Given the description of an element on the screen output the (x, y) to click on. 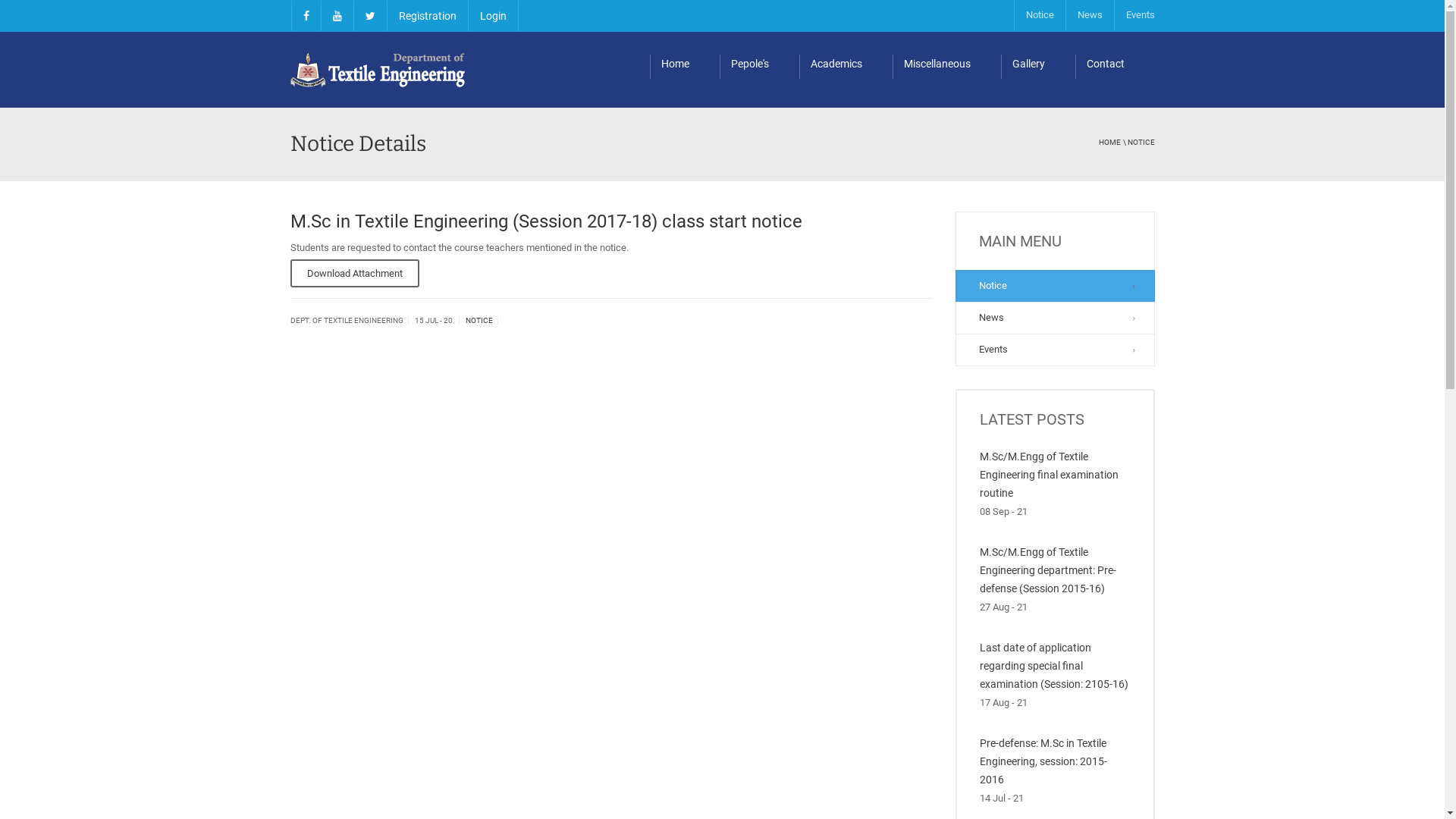
Notice Element type: text (1038, 15)
Academics Element type: text (845, 51)
Events Element type: text (1139, 15)
News Element type: text (1054, 317)
HOME Element type: text (1109, 142)
Registration Element type: text (426, 15)
Events Element type: text (1054, 349)
\ NOTICE Element type: text (1138, 142)
M.Sc/M.Engg of Textile Engineering final examination routine Element type: text (1048, 474)
News Element type: text (1088, 15)
Download Attachment Element type: text (353, 273)
Login Element type: text (492, 15)
Home Element type: text (683, 51)
Notice Element type: text (1054, 285)
Contact Element type: text (1114, 51)
Pepole's Element type: text (758, 51)
Gallery Element type: text (1038, 51)
NOTICE Element type: text (478, 320)
Miscellaneous Element type: text (945, 51)
Pre-defense: M.Sc in Textile Engineering, session: 2015-2016 Element type: text (1043, 761)
